Given the description of an element on the screen output the (x, y) to click on. 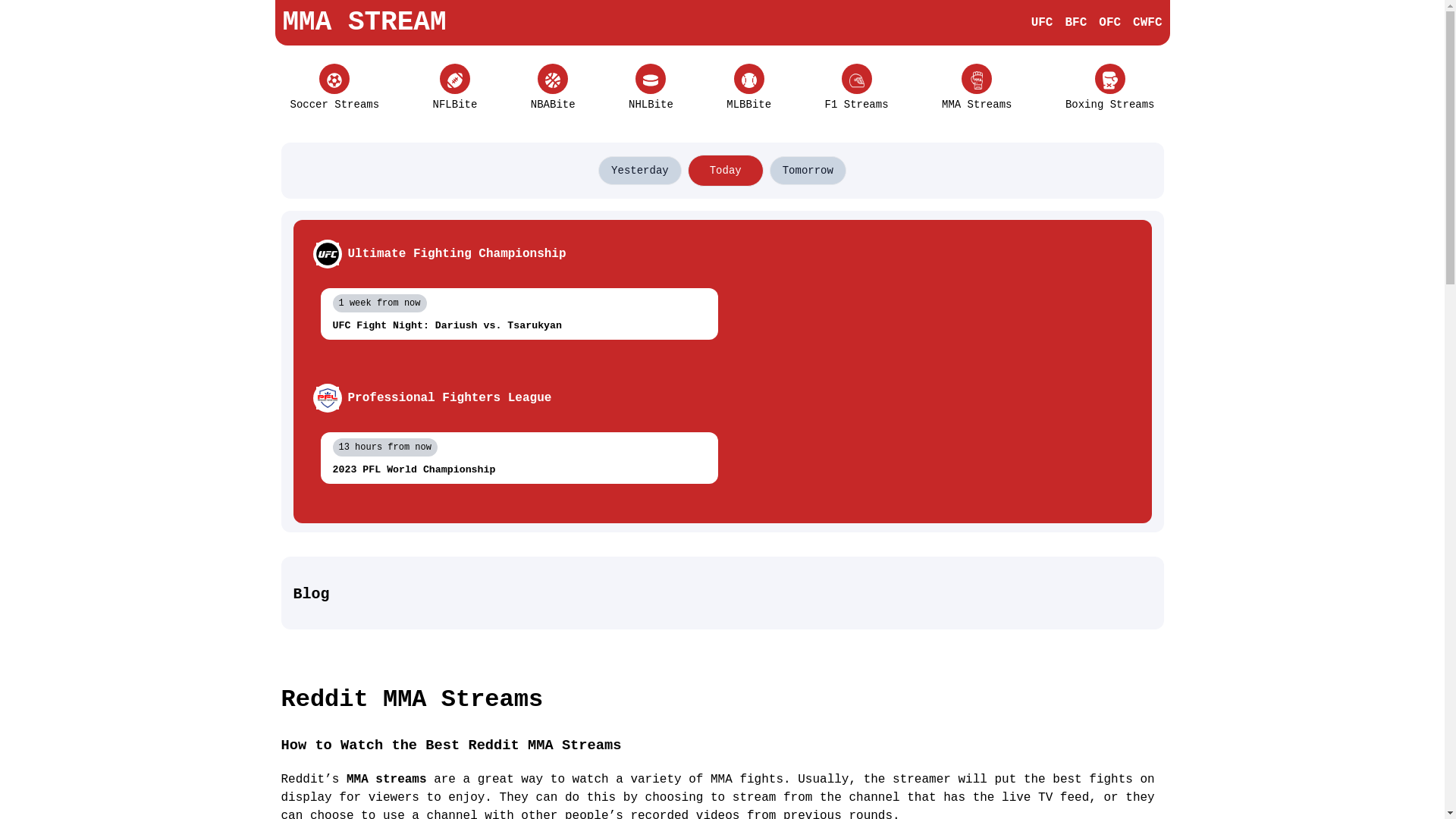
MMA STREAM Element type: text (363, 22)
Tomorrow Element type: text (807, 170)
UFC Fight Night: Dariush vs. Tsarukyan Element type: text (518, 325)
Yesterday Element type: text (639, 170)
1 week from now
UFC Fight Night: Dariush vs. Tsarukyan Element type: text (518, 313)
Blog Element type: text (721, 594)
Boxing Streams Element type: text (1110, 87)
MLBBite Element type: text (748, 87)
BFC Element type: text (1075, 22)
2023 PFL World Championship Element type: text (518, 469)
NHLBite Element type: text (650, 87)
UFC Element type: text (1042, 22)
NFLBite Element type: text (454, 87)
CWFC Element type: text (1146, 22)
Soccer Streams Element type: text (334, 87)
MMA Streams Element type: text (976, 87)
Today Element type: text (725, 170)
F1 Streams Element type: text (856, 87)
13 hours from now
2023 PFL World Championship Element type: text (518, 457)
NBABite Element type: text (552, 87)
OFC Element type: text (1109, 22)
